Given the description of an element on the screen output the (x, y) to click on. 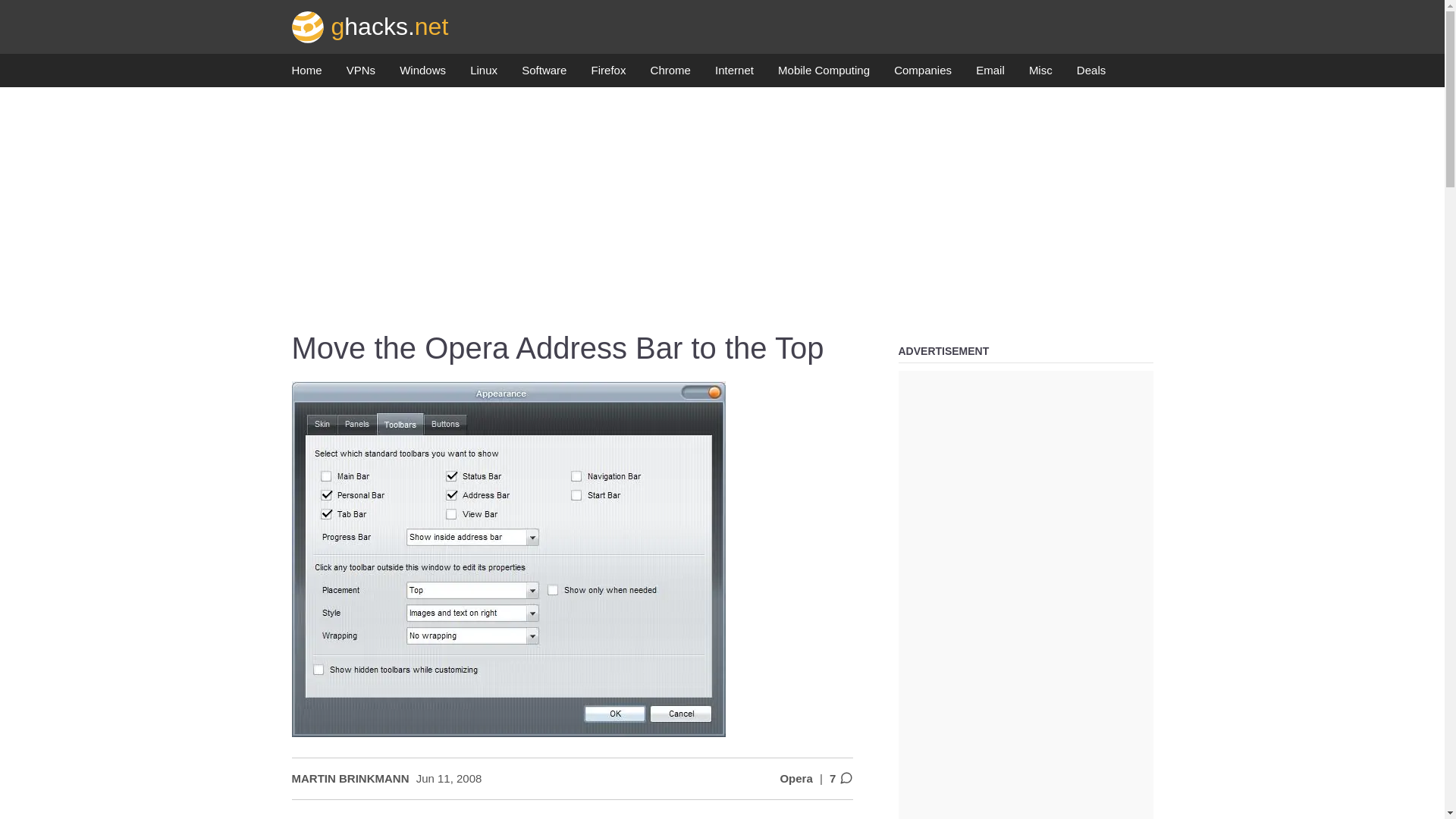
Linux (483, 73)
VPNs (360, 73)
Internet (734, 73)
ghacks.net (369, 26)
Mobile Computing (823, 73)
Companies (922, 73)
Home (306, 73)
Misc (1040, 73)
Email (989, 73)
Windows (421, 73)
